Given the description of an element on the screen output the (x, y) to click on. 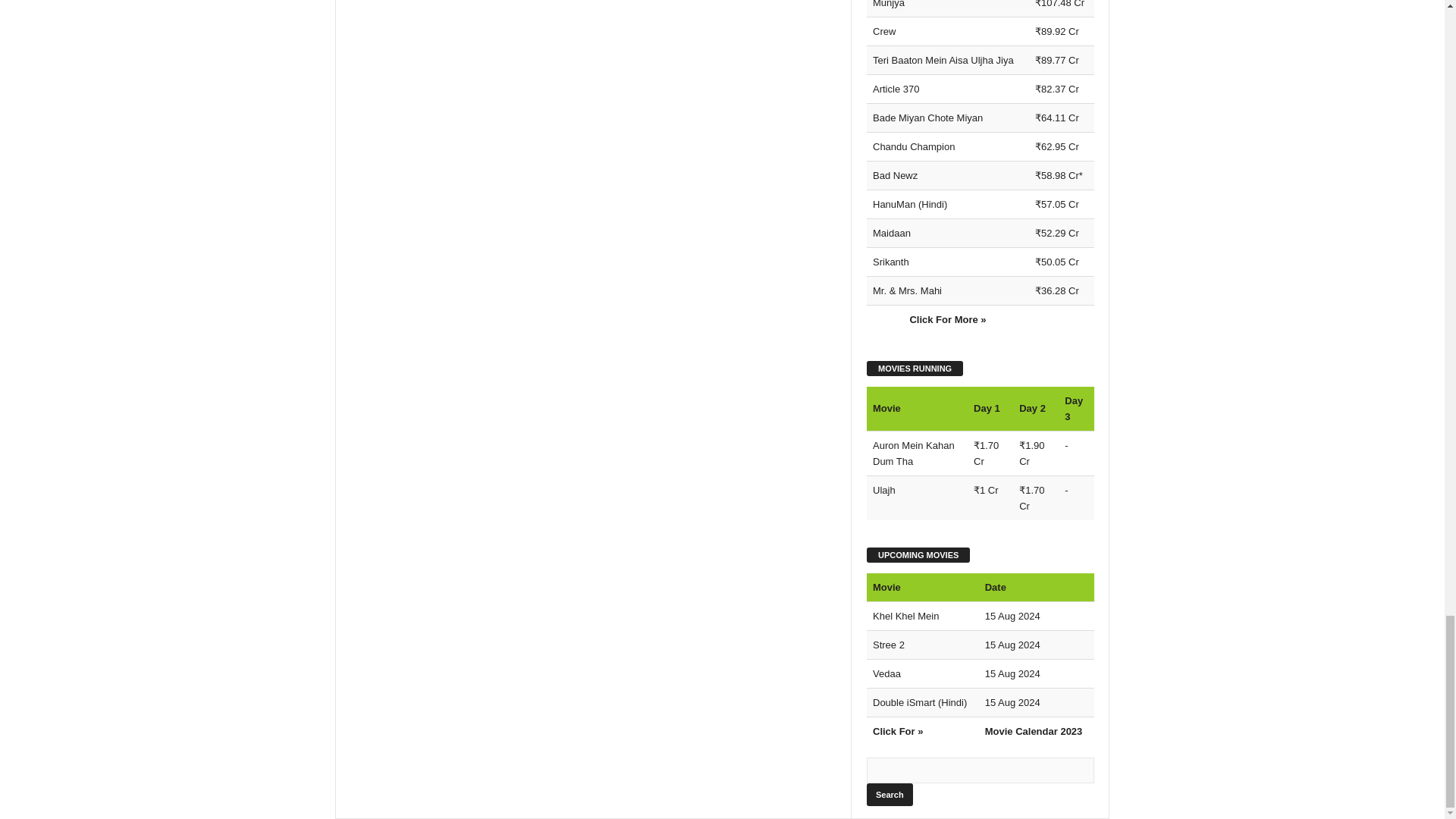
Search (889, 793)
